Given the description of an element on the screen output the (x, y) to click on. 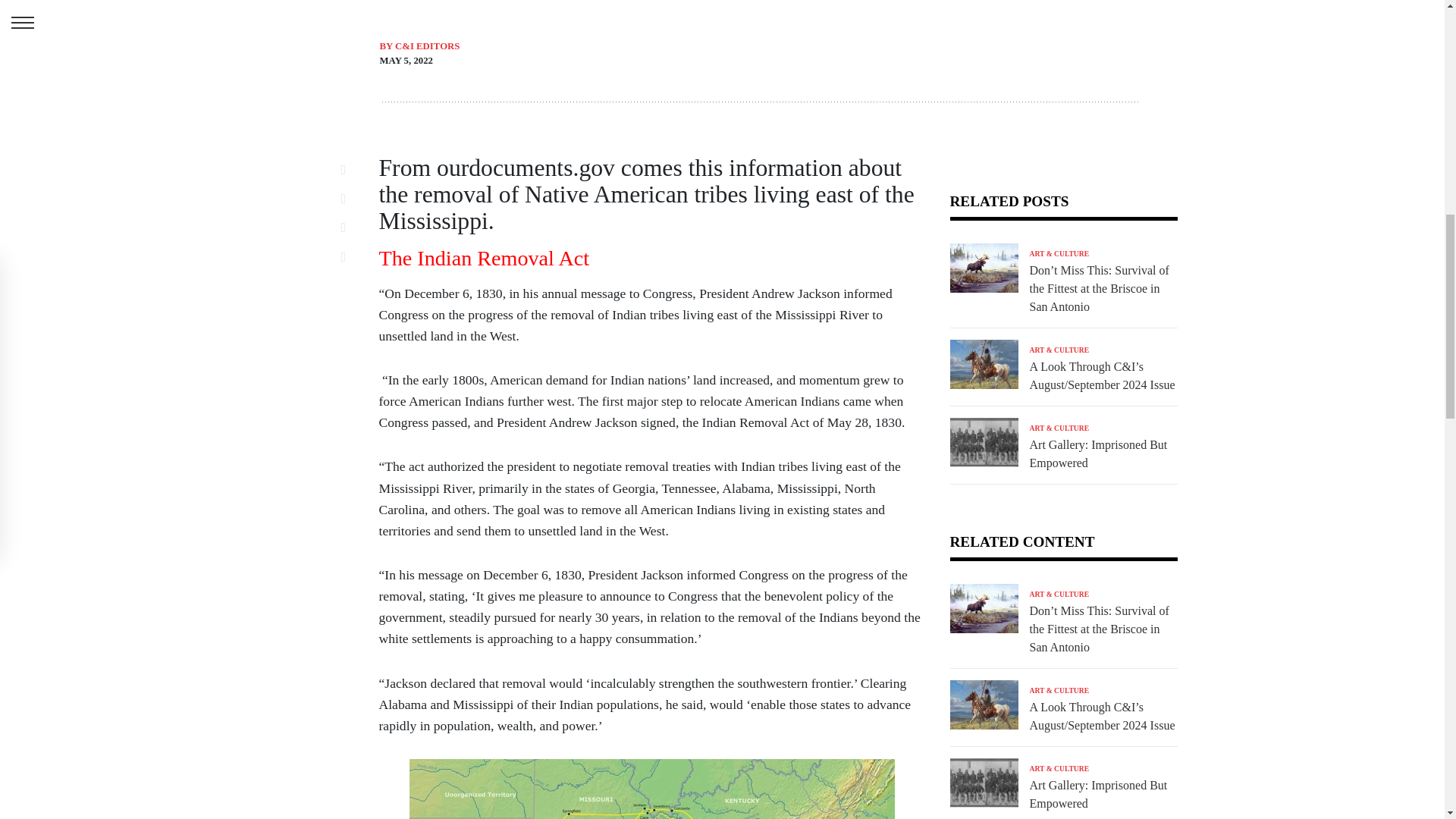
Share on Facebook (352, 169)
Tweet This Post (352, 198)
Share by Email (352, 255)
